Given the description of an element on the screen output the (x, y) to click on. 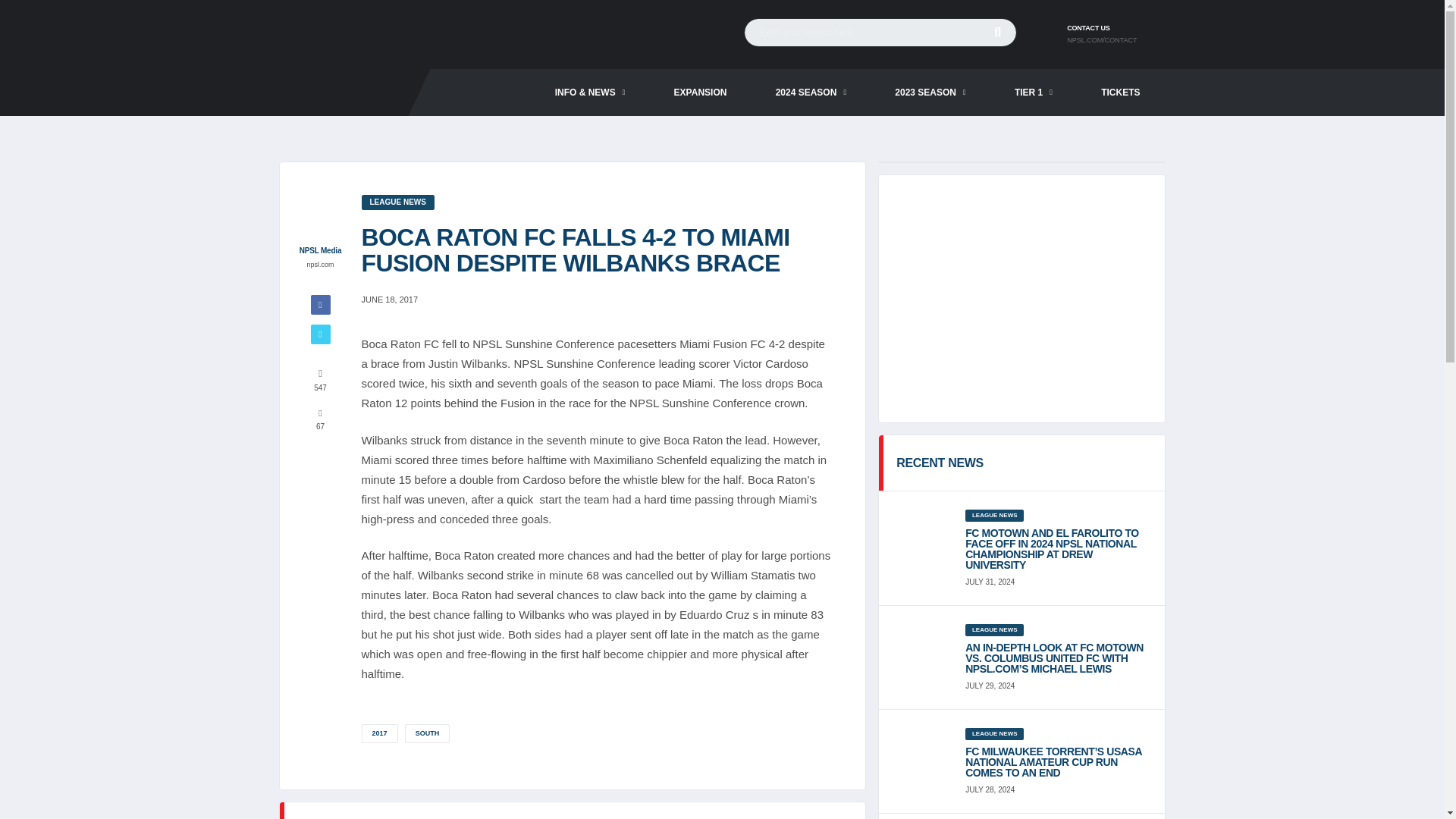
2024 SEASON (810, 92)
EXPANSION (699, 92)
